Given the description of an element on the screen output the (x, y) to click on. 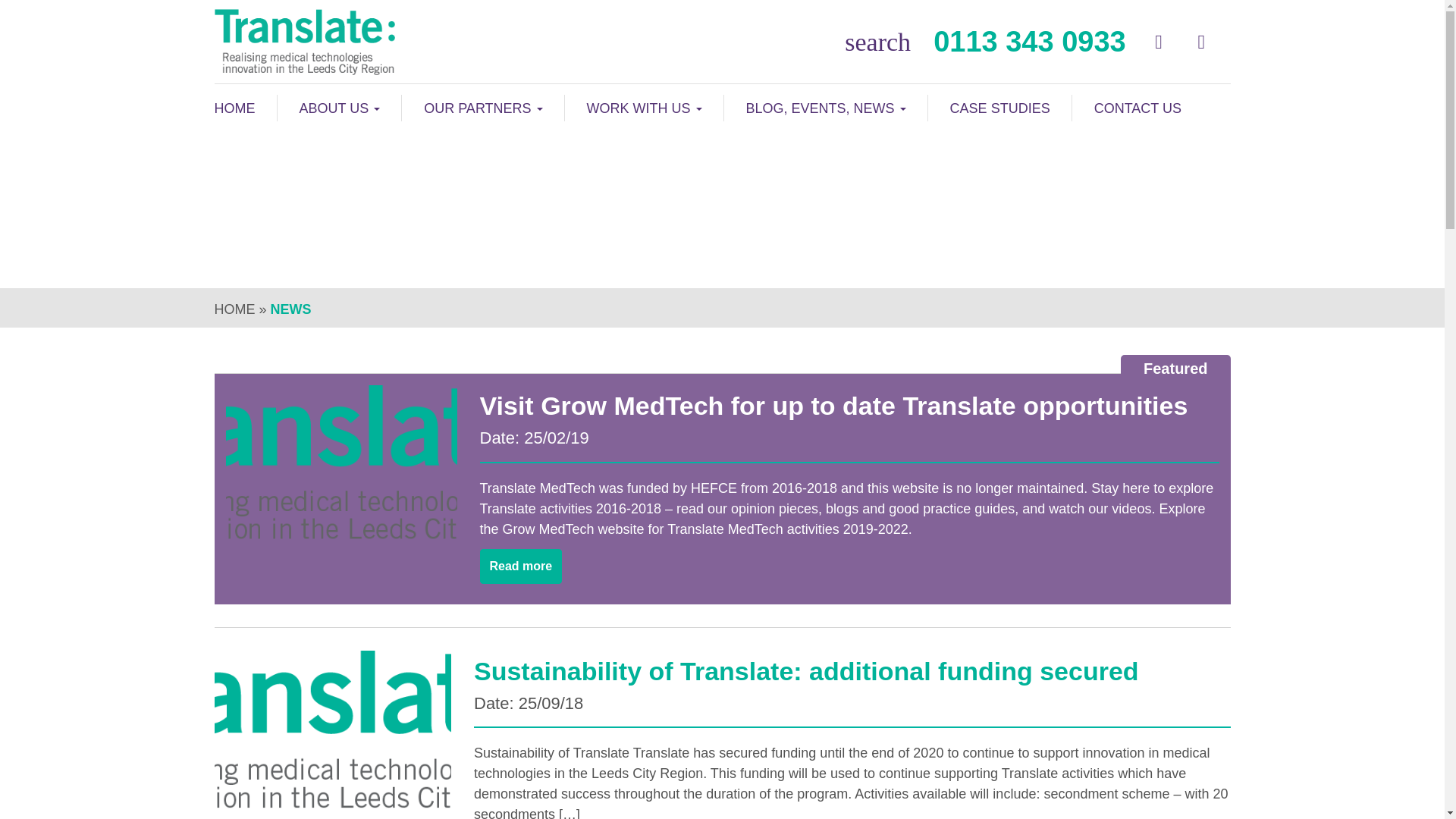
ABOUT US (340, 108)
Visit Grow MedTech for up to date Translate opportunities (848, 406)
HOME (245, 108)
HOME (234, 309)
OUR PARTNERS (482, 108)
WORK WITH US (643, 108)
CONTACT US (1125, 108)
Home (245, 108)
About Us (340, 108)
Blog, Events, News (825, 108)
Read more (520, 565)
Our Partners (482, 108)
BLOG, EVENTS, NEWS (825, 108)
Sustainability of Translate: additional funding secured (852, 671)
Work with Us (643, 108)
